Given the description of an element on the screen output the (x, y) to click on. 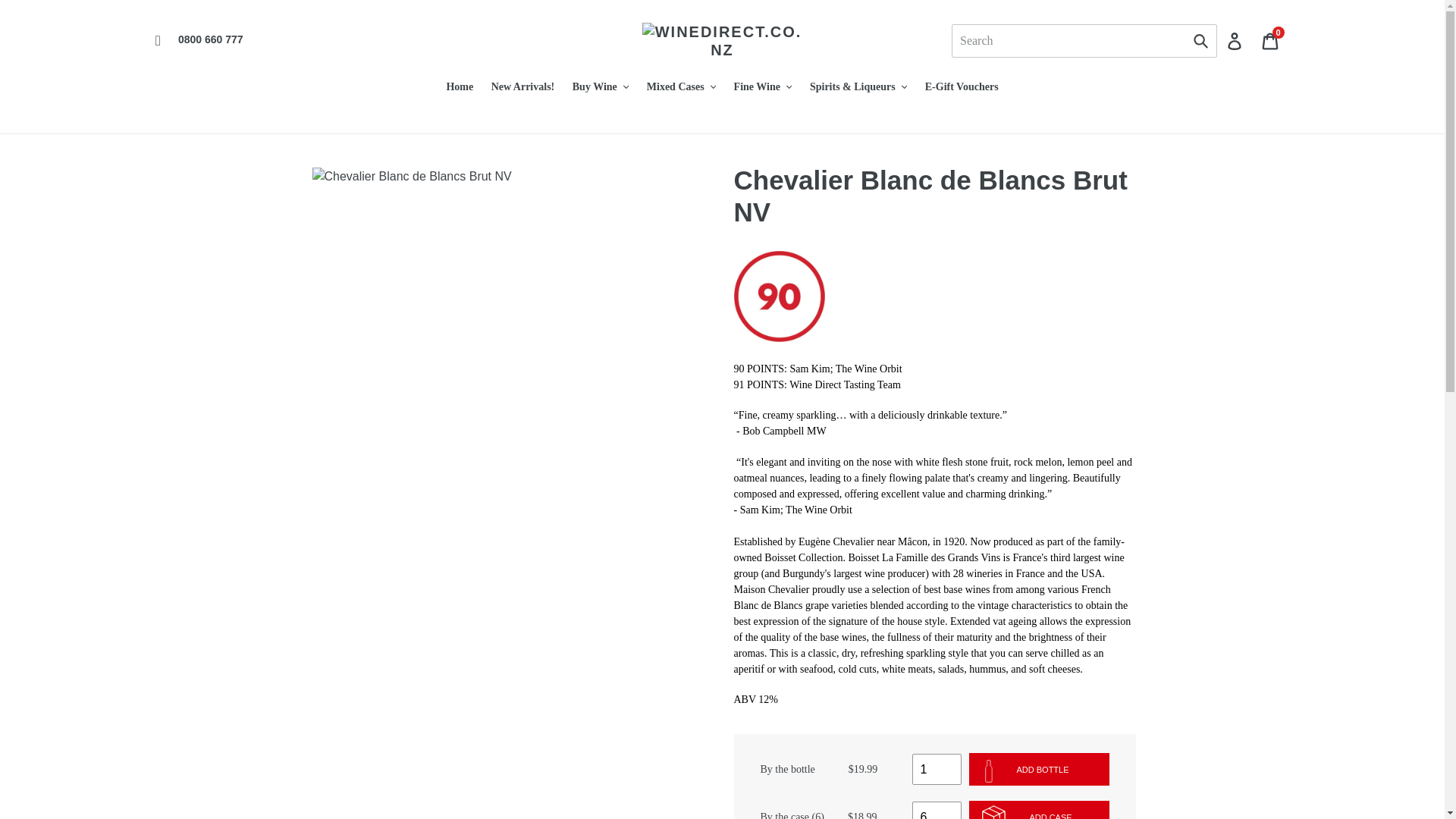
1 (935, 768)
Qty (935, 810)
LOGIN (1235, 40)
6 (935, 810)
Log in (1235, 40)
Qty (935, 768)
Submit (1201, 40)
VIEW CART (1270, 40)
0800 660 777 (1270, 40)
